Given the description of an element on the screen output the (x, y) to click on. 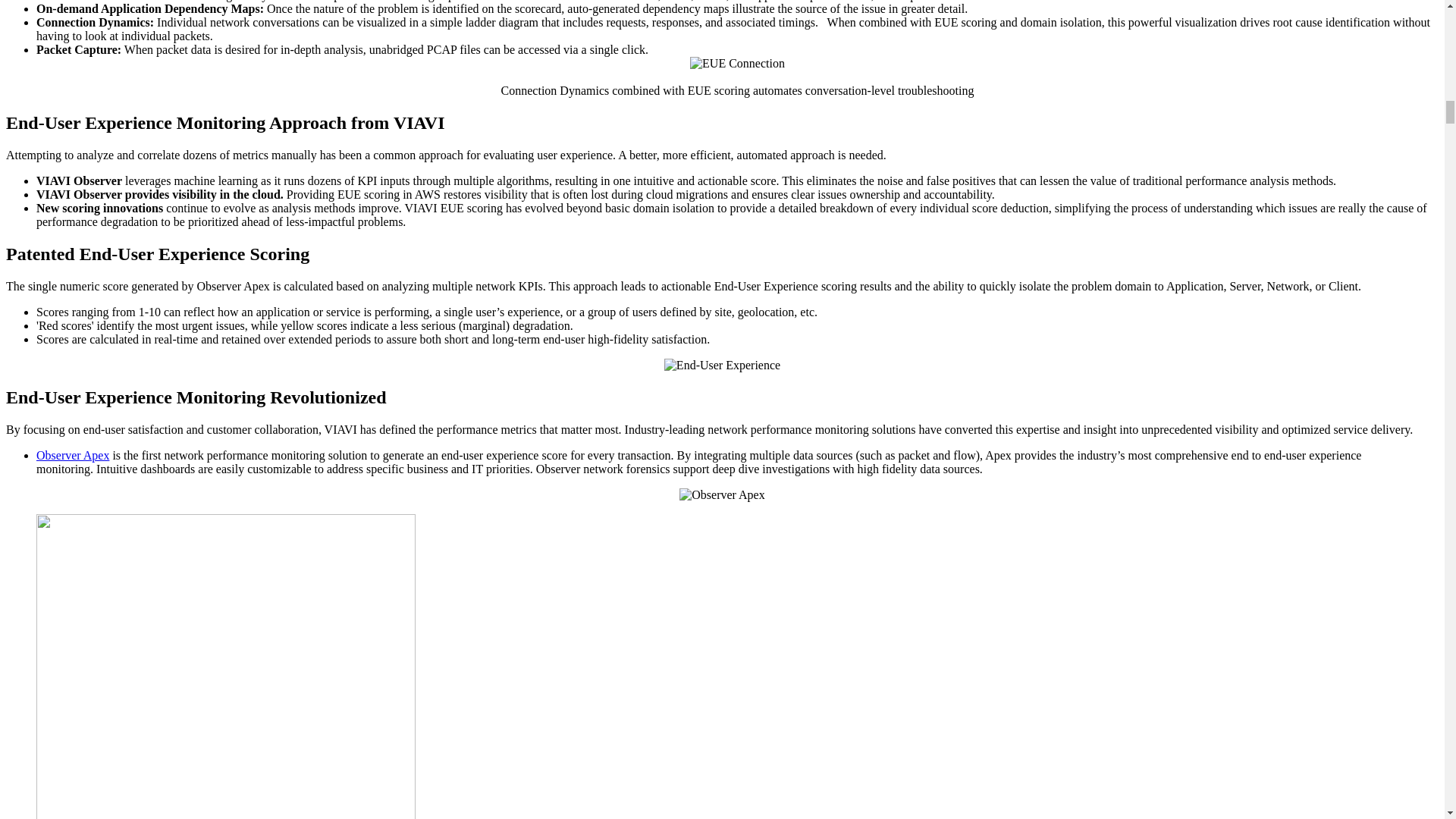
Observer Apex (721, 495)
EUE Connection (737, 63)
Observer Apex (72, 454)
End-User Experience (721, 365)
